Given the description of an element on the screen output the (x, y) to click on. 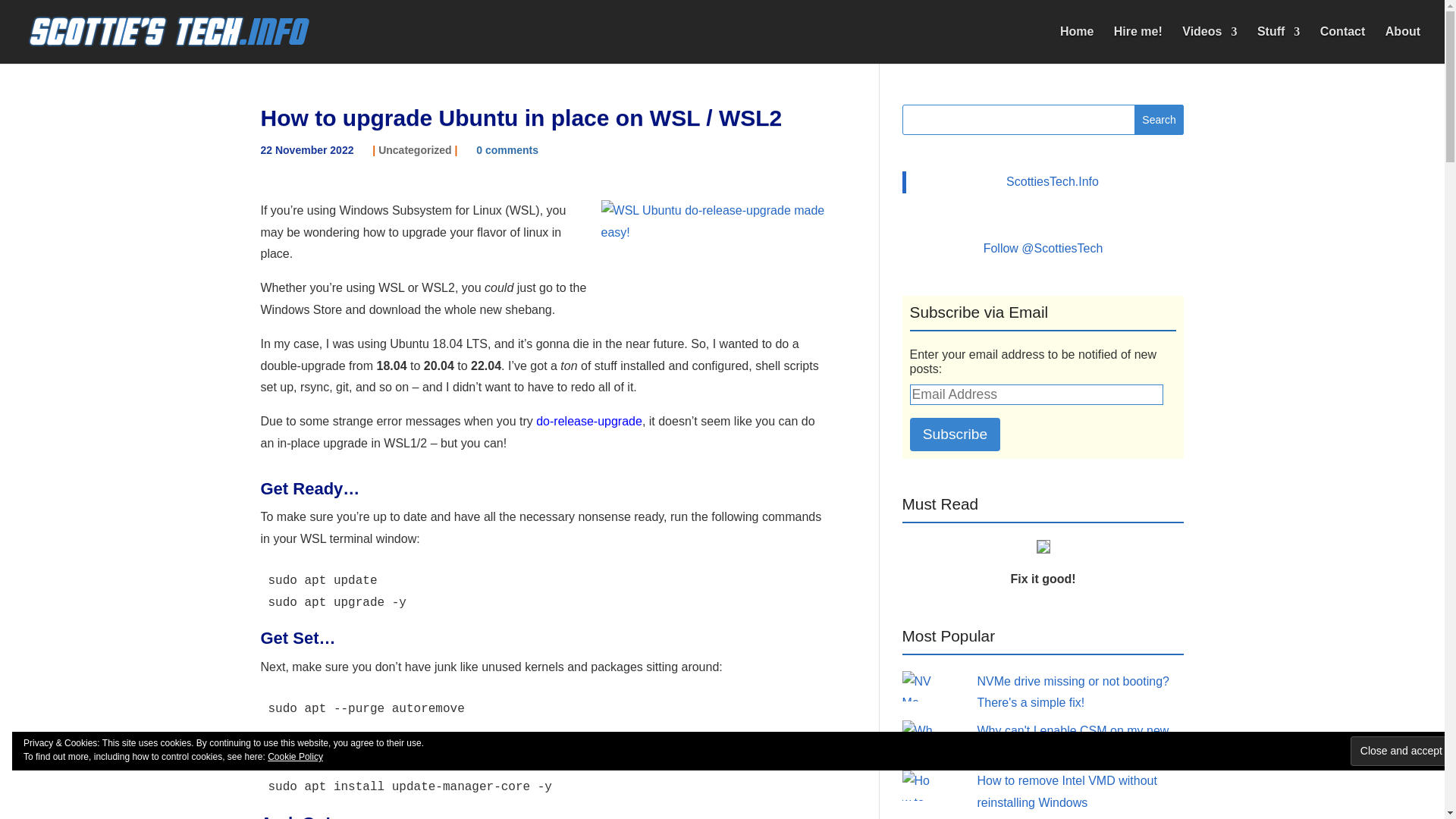
Contact (1342, 44)
Uncategorized (414, 150)
Stuff (1278, 44)
Hire me! (1137, 44)
Search (1159, 119)
Videos (1209, 44)
About (1403, 44)
0 comments (507, 150)
Home (1076, 44)
